Given the description of an element on the screen output the (x, y) to click on. 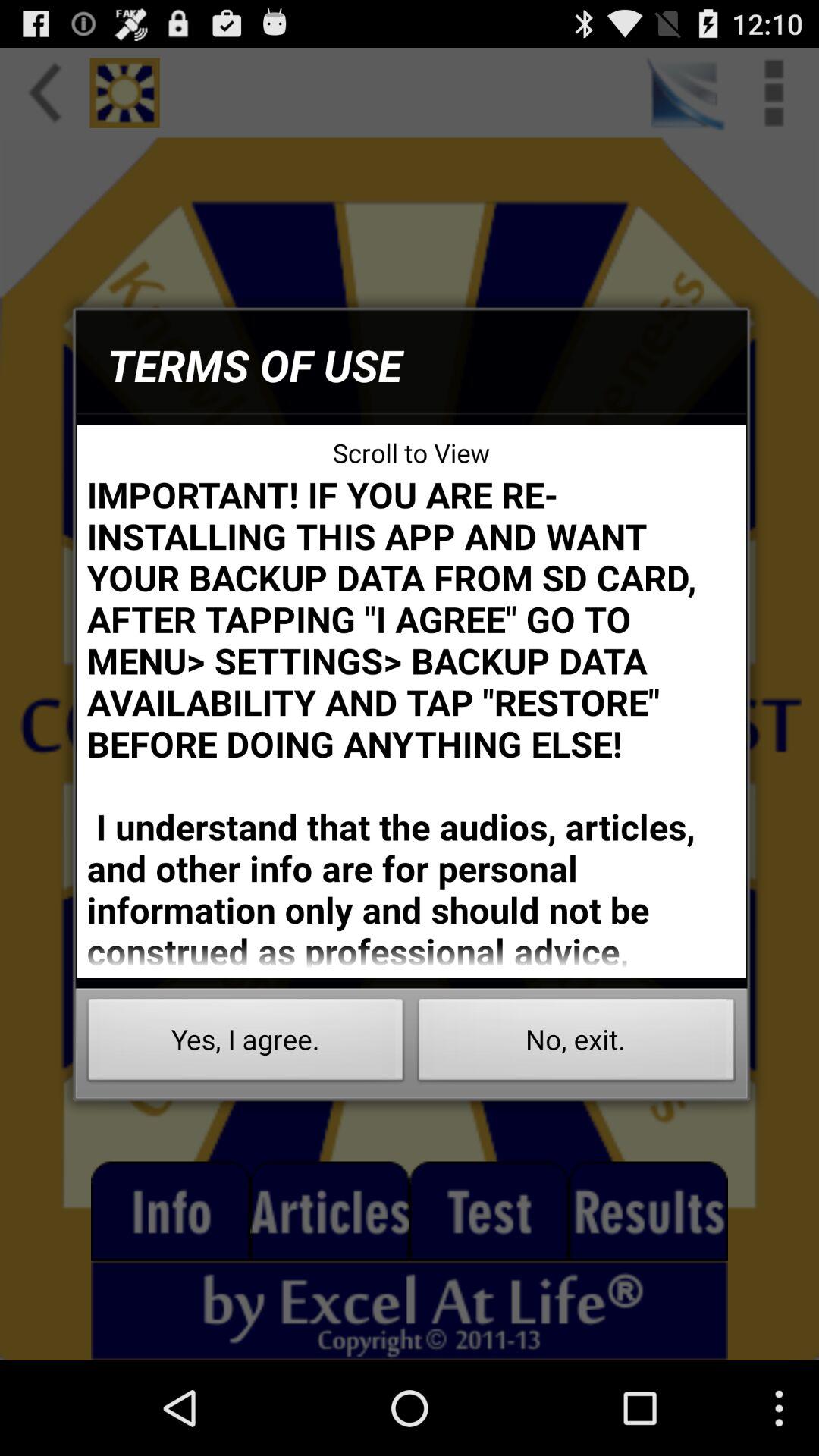
open no, exit. at the bottom right corner (576, 1044)
